Given the description of an element on the screen output the (x, y) to click on. 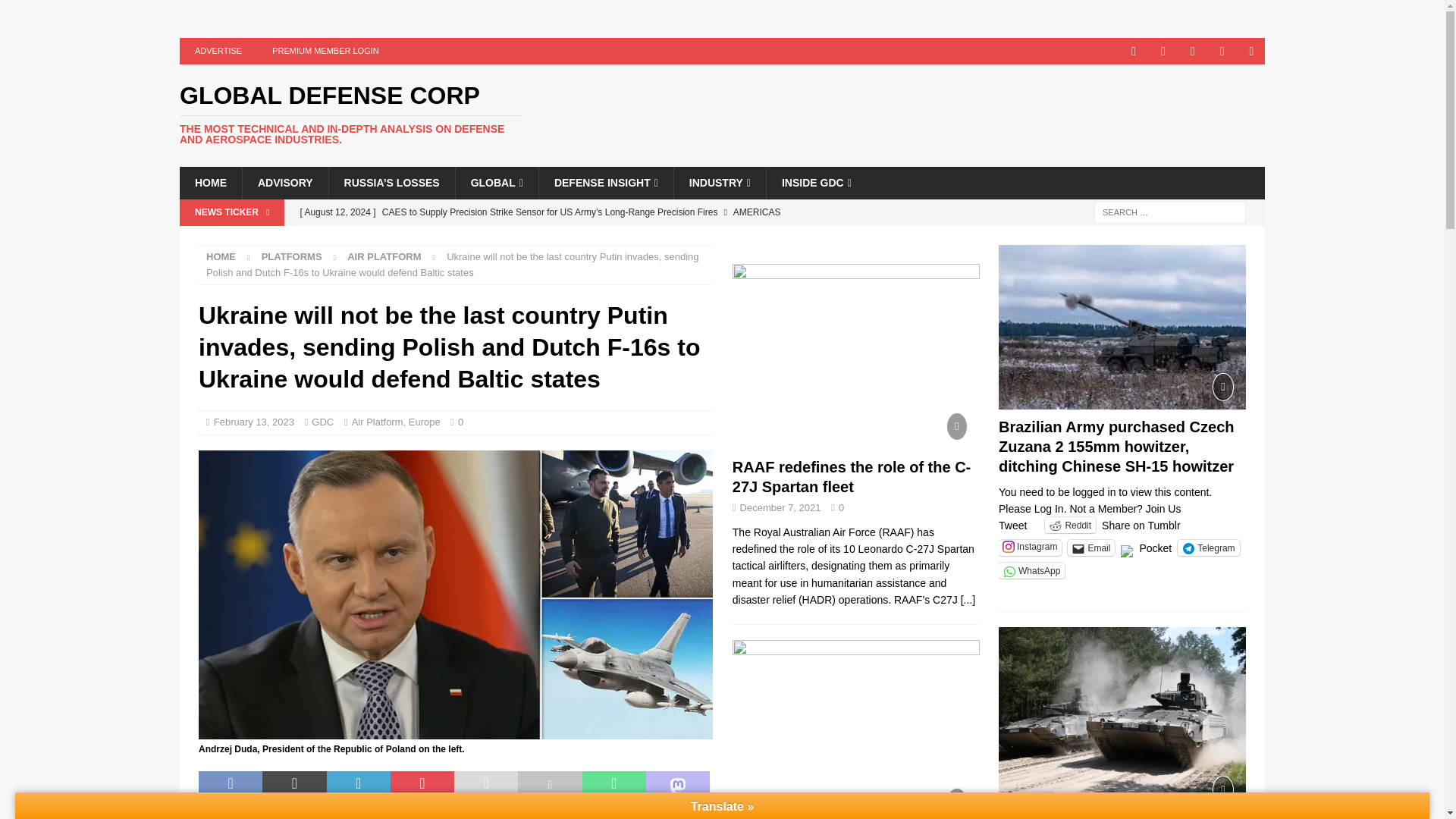
Send this article to a friend (486, 784)
HOME (210, 183)
Air Platform (383, 256)
Share on Facebook (230, 784)
Ukrainian HIMARS destroys Russian Pantsir air defense system (589, 237)
Share on LinkedIn (358, 784)
Global Defense Corp (350, 114)
Tweet This Post (294, 784)
Home (220, 256)
